Given the description of an element on the screen output the (x, y) to click on. 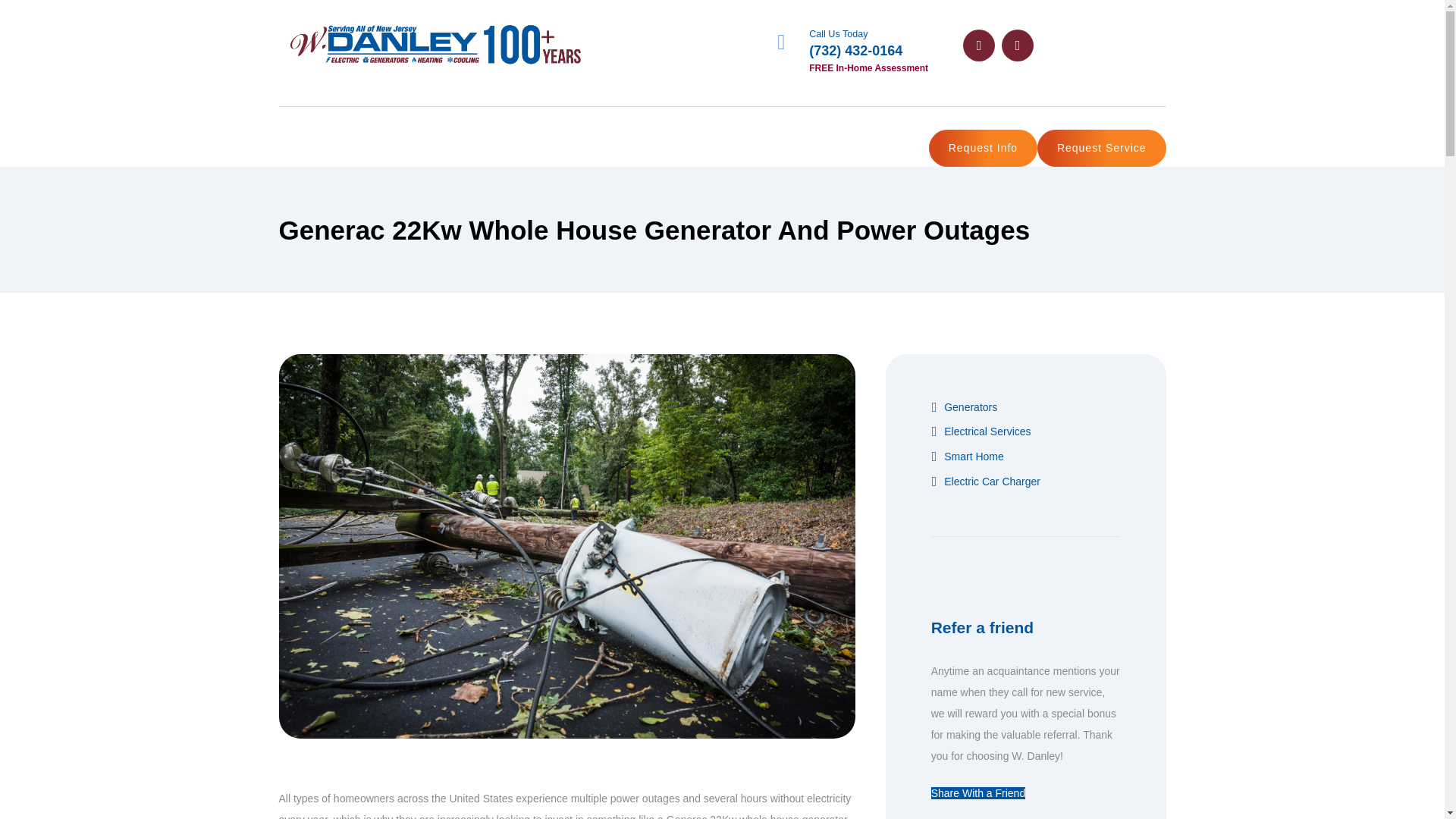
Request Info (982, 148)
Request Service (1101, 148)
